Given the description of an element on the screen output the (x, y) to click on. 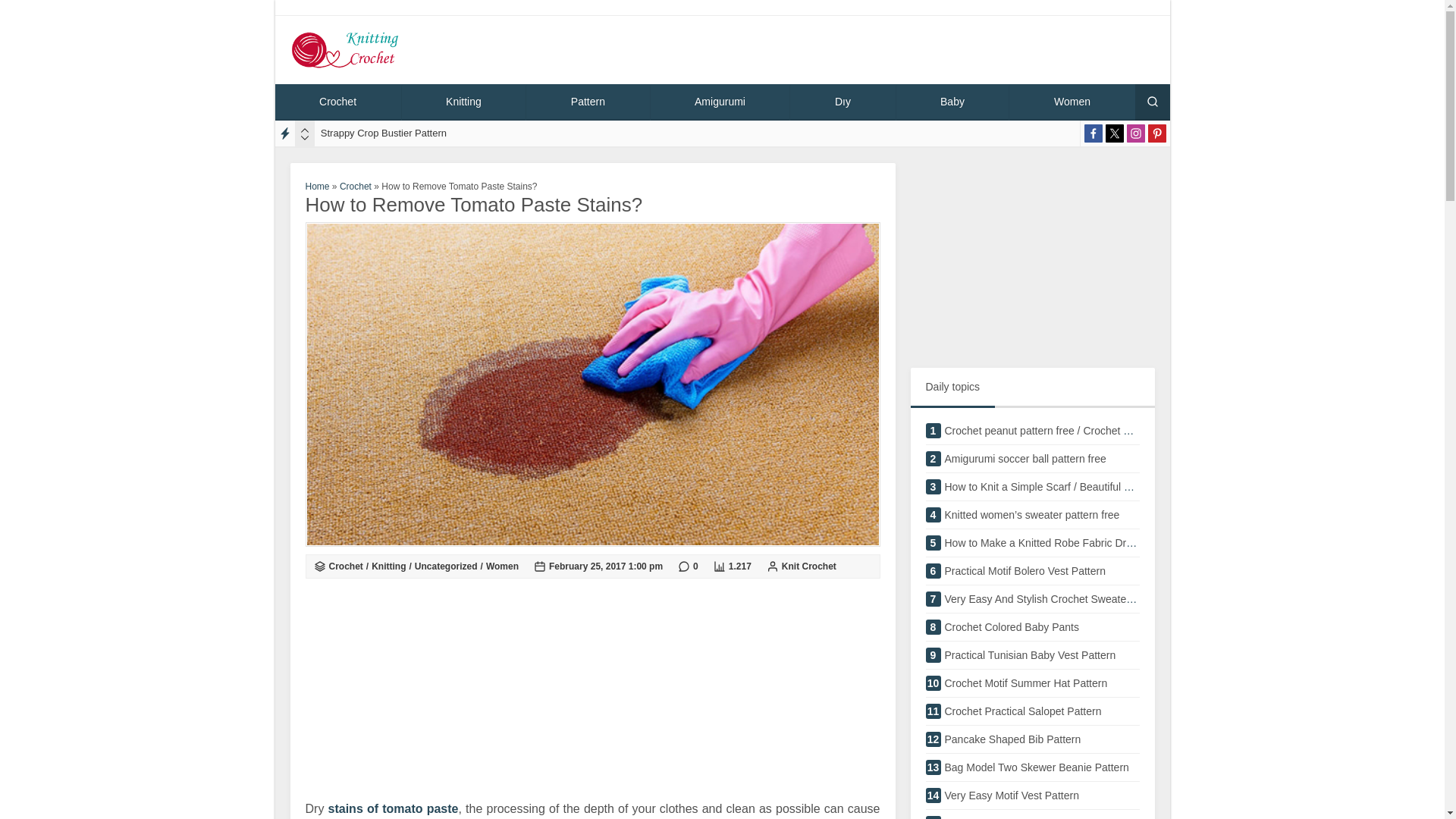
Follow us on Instagram (1135, 133)
Advertisement (1031, 462)
Follow us on Twitter (1032, 257)
Posts by Knit Crochet (1114, 133)
Baby (808, 566)
Follow us on Pinterest (1031, 602)
Pattern (1031, 546)
Amigurumi (952, 102)
Knittting Crochet (1157, 133)
Women (587, 102)
Click to search (720, 102)
